Given the description of an element on the screen output the (x, y) to click on. 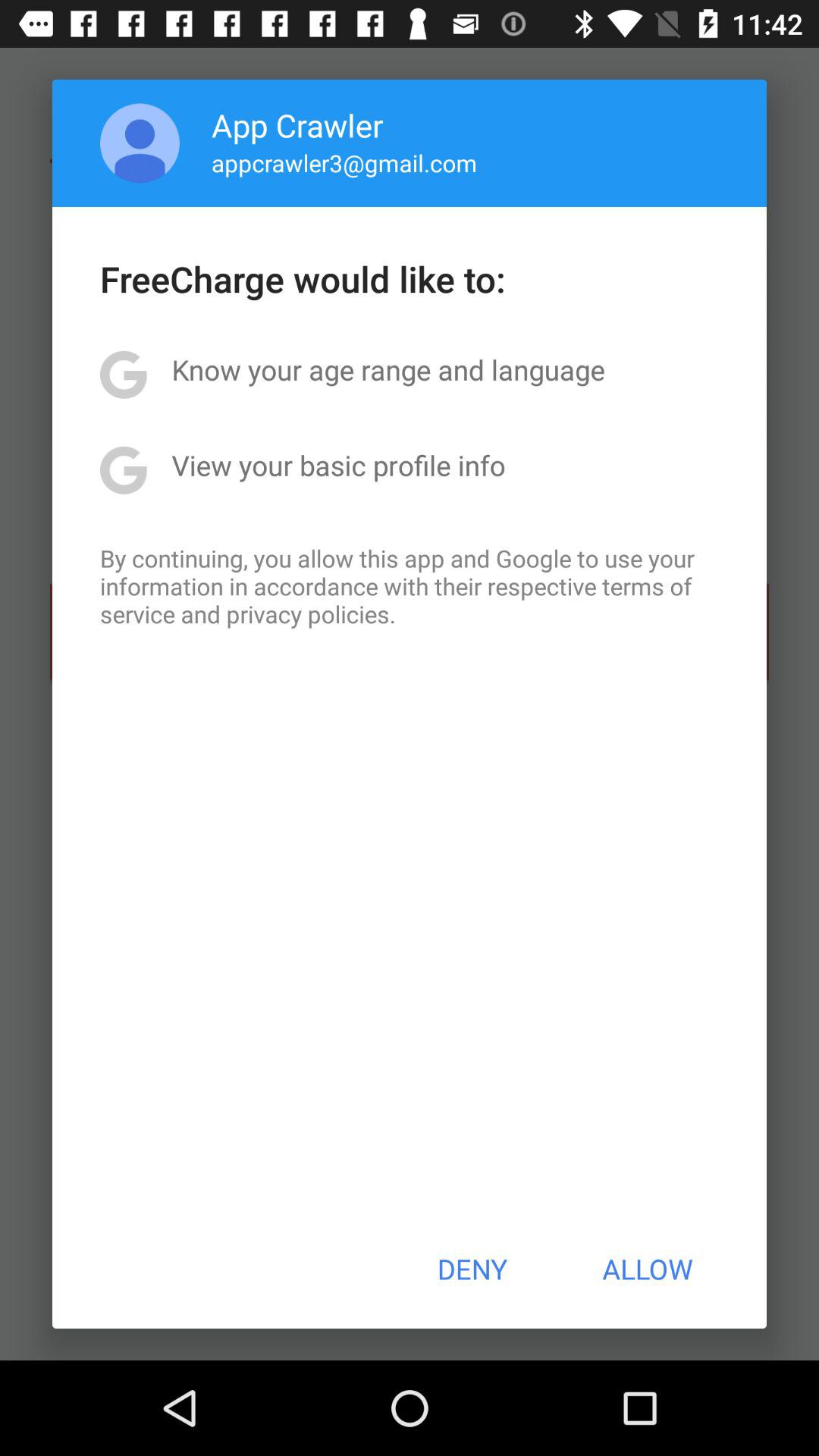
tap the item next to allow (471, 1268)
